Given the description of an element on the screen output the (x, y) to click on. 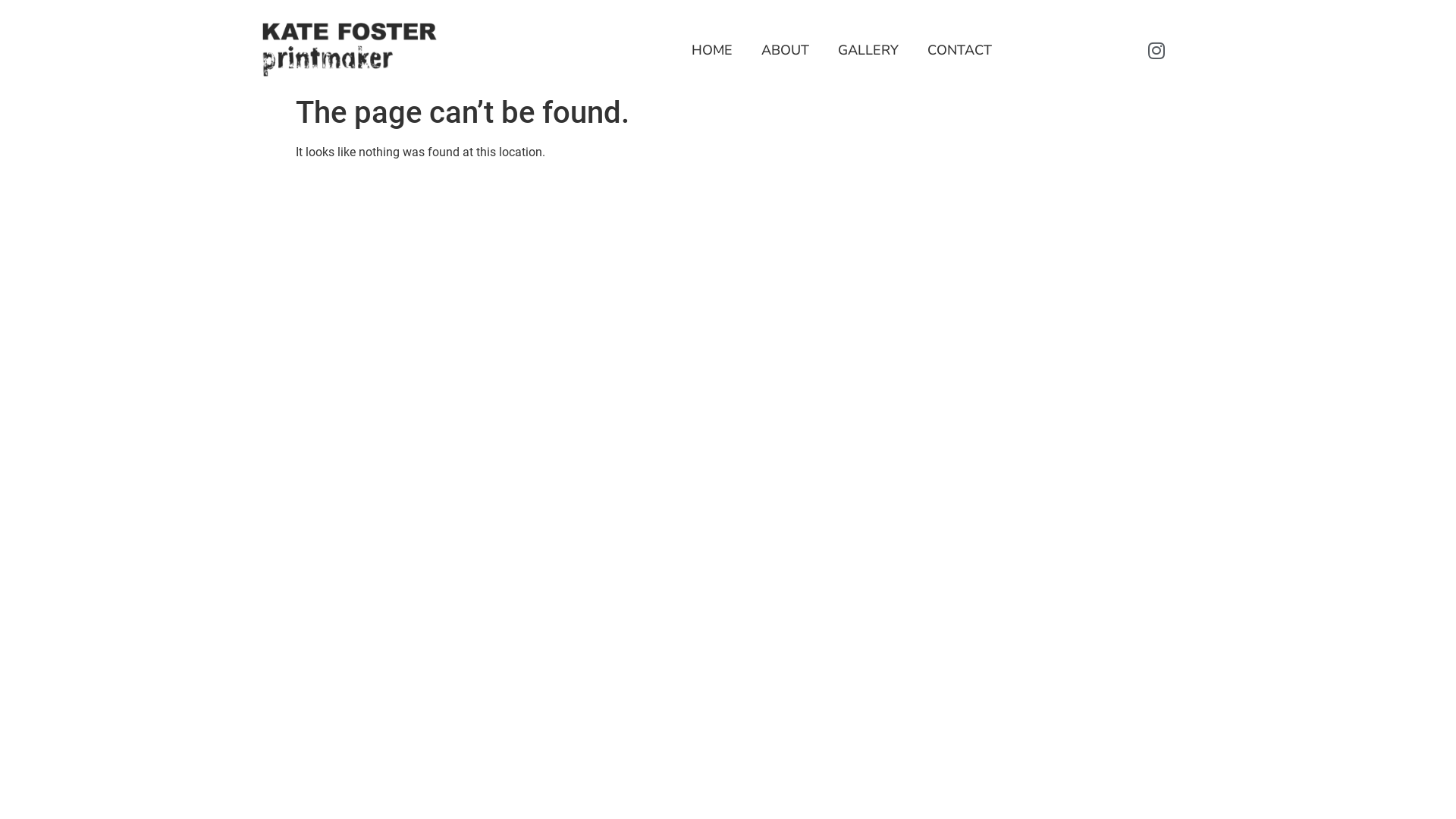
GALLERY Element type: text (867, 49)
HOME Element type: text (711, 49)
ABOUT Element type: text (785, 49)
CONTACT Element type: text (959, 49)
